Given the description of an element on the screen output the (x, y) to click on. 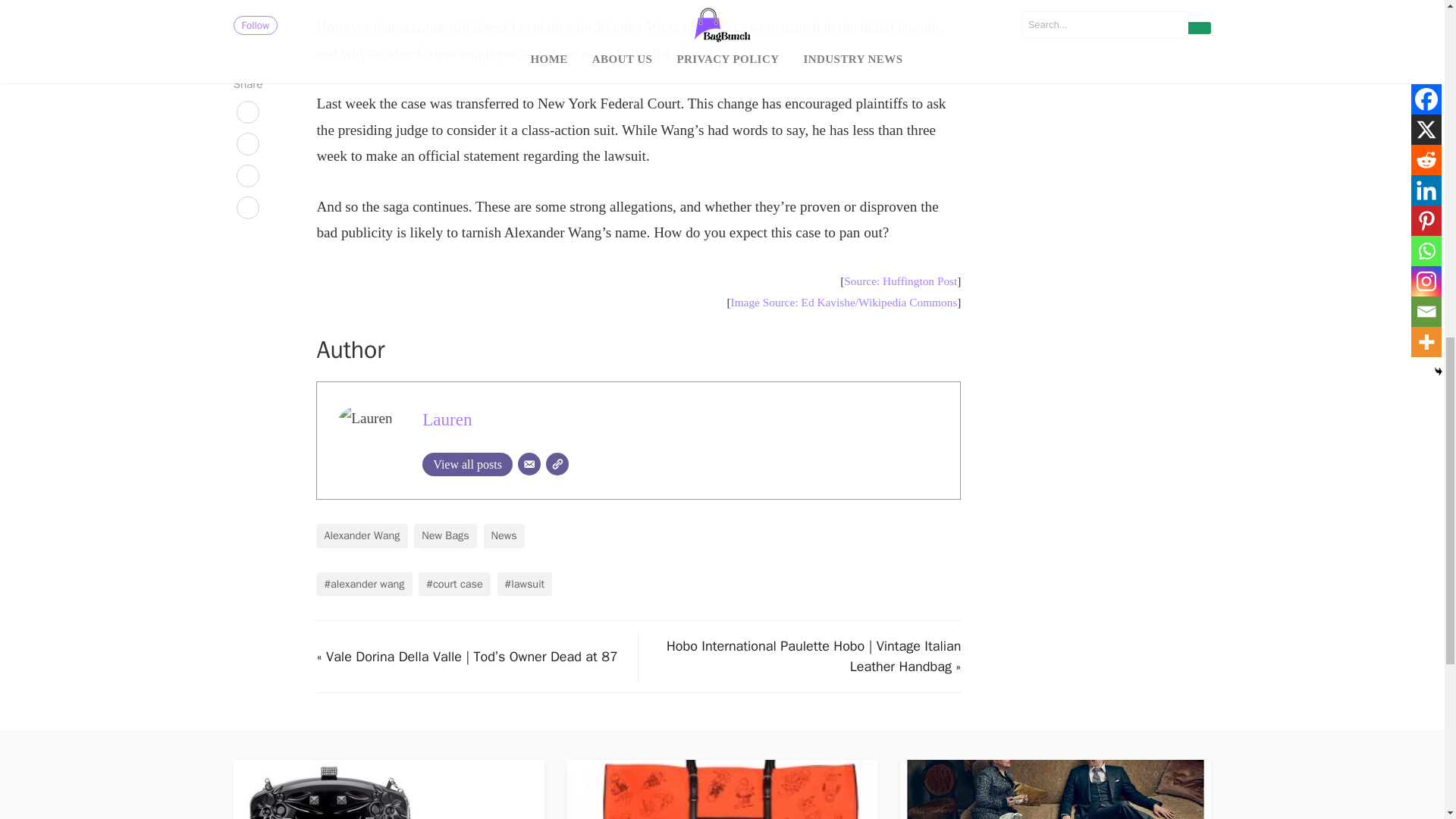
Lauren (446, 419)
View all posts (467, 463)
Lauren (446, 419)
View all posts (467, 463)
Source: Huffington Post (900, 280)
